Given the description of an element on the screen output the (x, y) to click on. 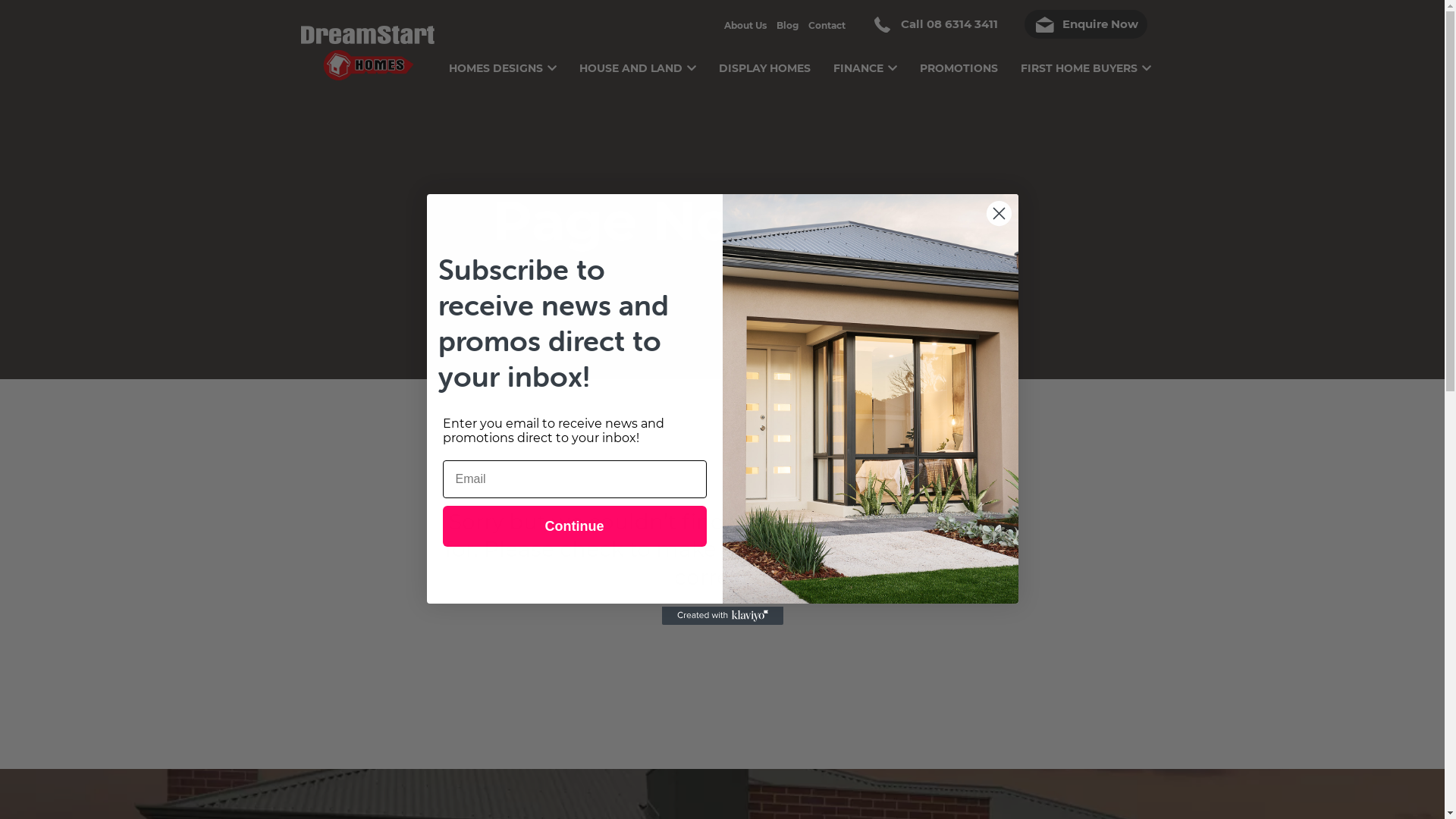
Submit Element type: text (60, 22)
08 6314 3411 Element type: text (961, 23)
Blog Element type: text (787, 25)
Continue Element type: text (574, 525)
PROMOTIONS Element type: text (957, 56)
FINANCE Element type: text (864, 56)
HOUSE AND LAND Element type: text (637, 56)
FIRST HOME BUYERS Element type: text (1085, 56)
DISPLAY HOMES Element type: text (764, 56)
Contact Element type: text (826, 25)
HOMES DESIGNS Element type: text (502, 56)
About Us Element type: text (744, 25)
Enquire Now Element type: text (1084, 23)
